Given the description of an element on the screen output the (x, y) to click on. 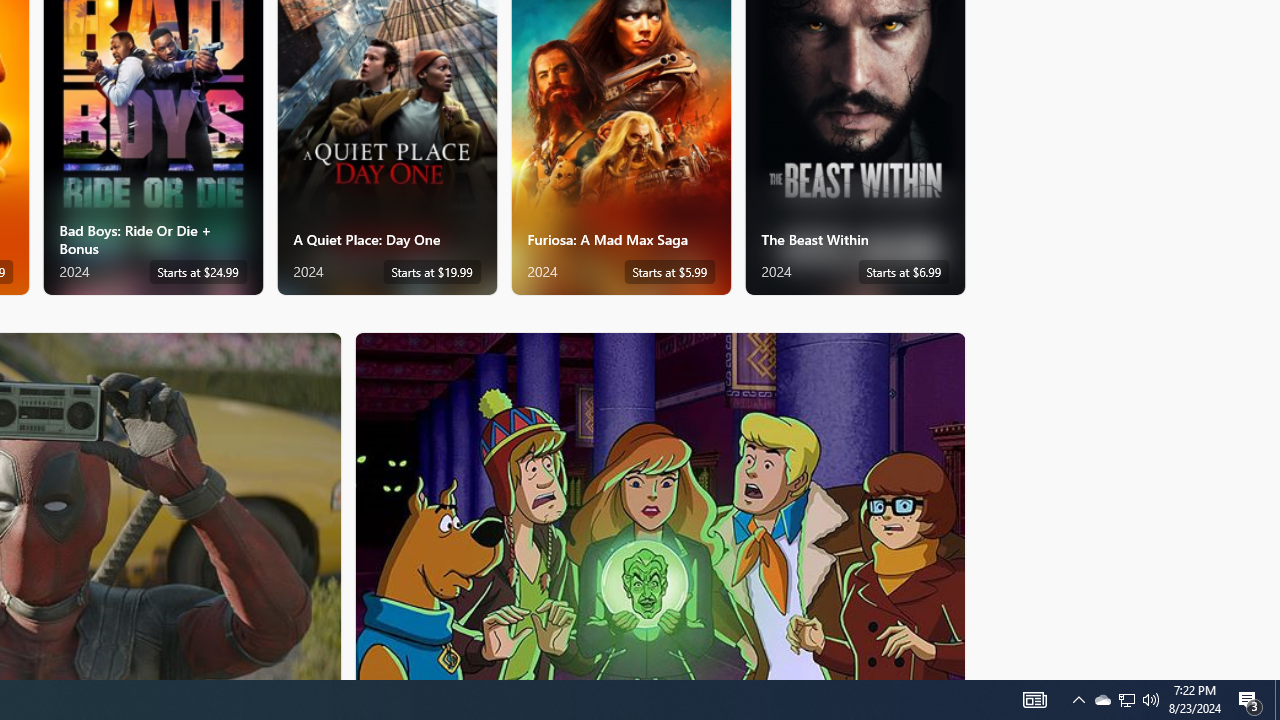
Family (660, 505)
AutomationID: PosterImage (658, 505)
